Given the description of an element on the screen output the (x, y) to click on. 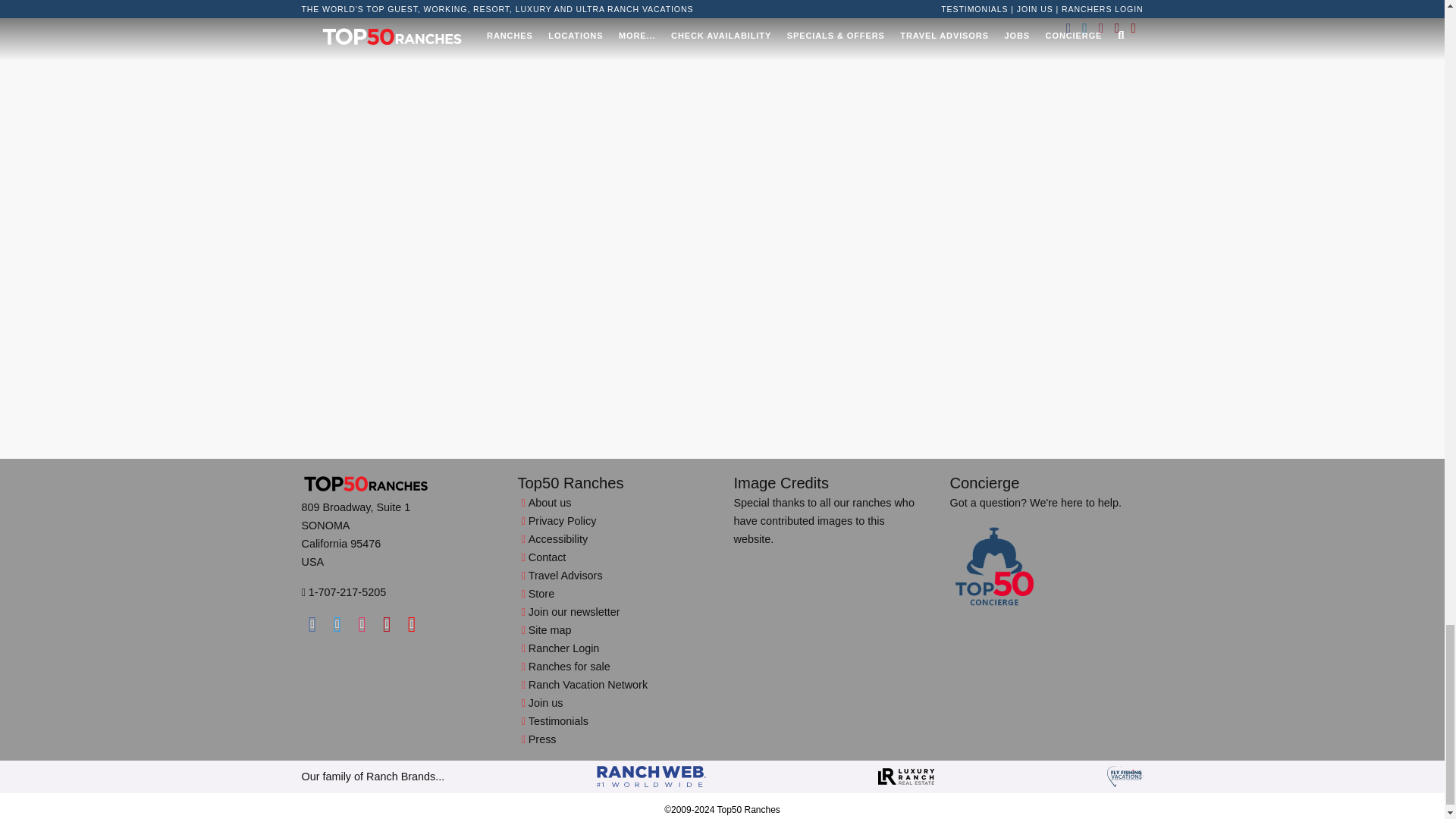
instagram (361, 623)
pinterest (386, 623)
Top50 Concierge - click to message us (993, 567)
twitter (336, 623)
facebook (312, 623)
youtube (412, 623)
